Given the description of an element on the screen output the (x, y) to click on. 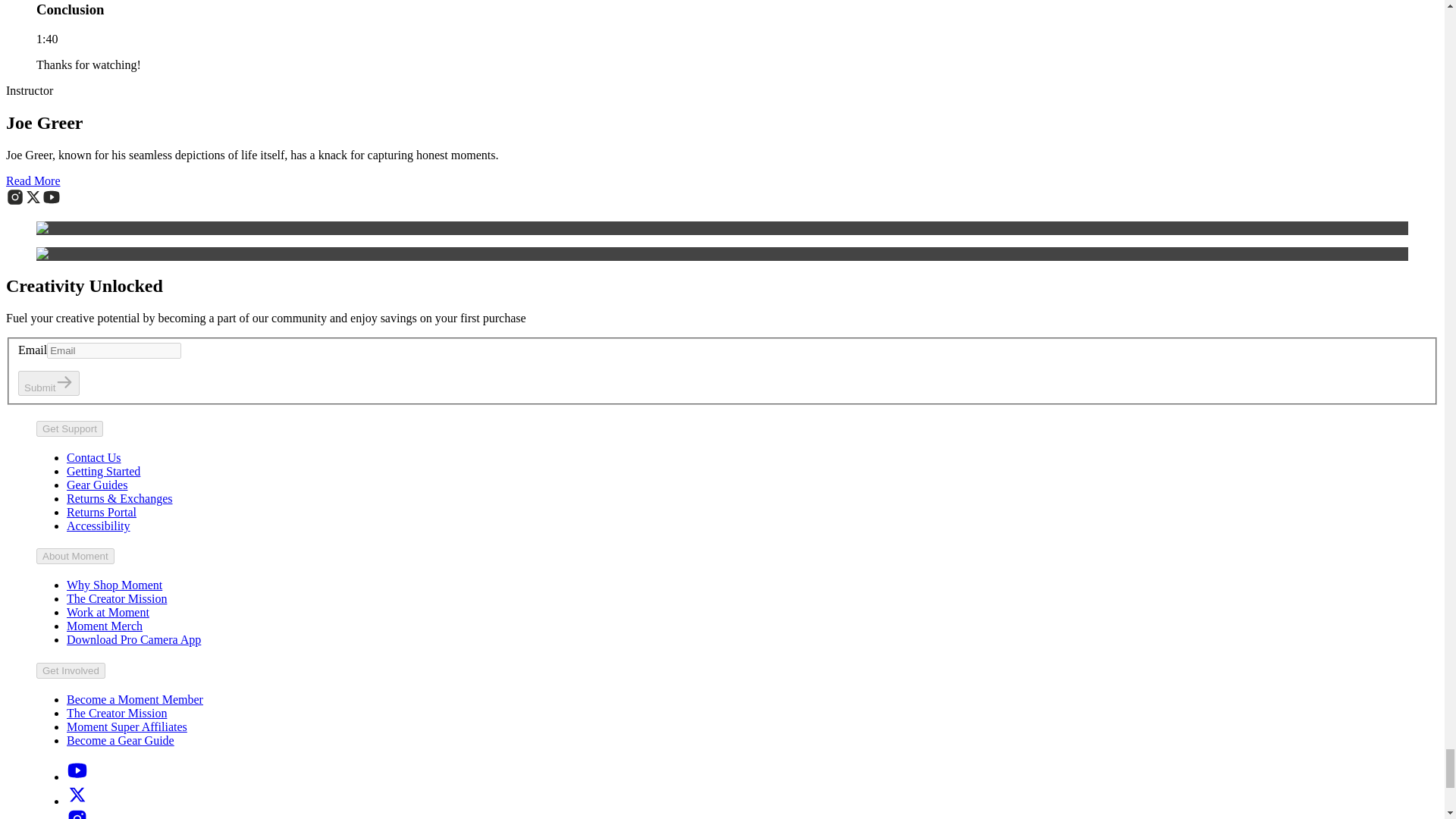
Go to ioegreer (33, 201)
Getting Started (102, 471)
Go to ioegreer (14, 201)
Read More (33, 180)
Go to ioegreer (51, 201)
About Moment (75, 555)
Contact Us (93, 457)
Accessibility (98, 525)
Submit (48, 383)
Returns Portal (101, 512)
